Given the description of an element on the screen output the (x, y) to click on. 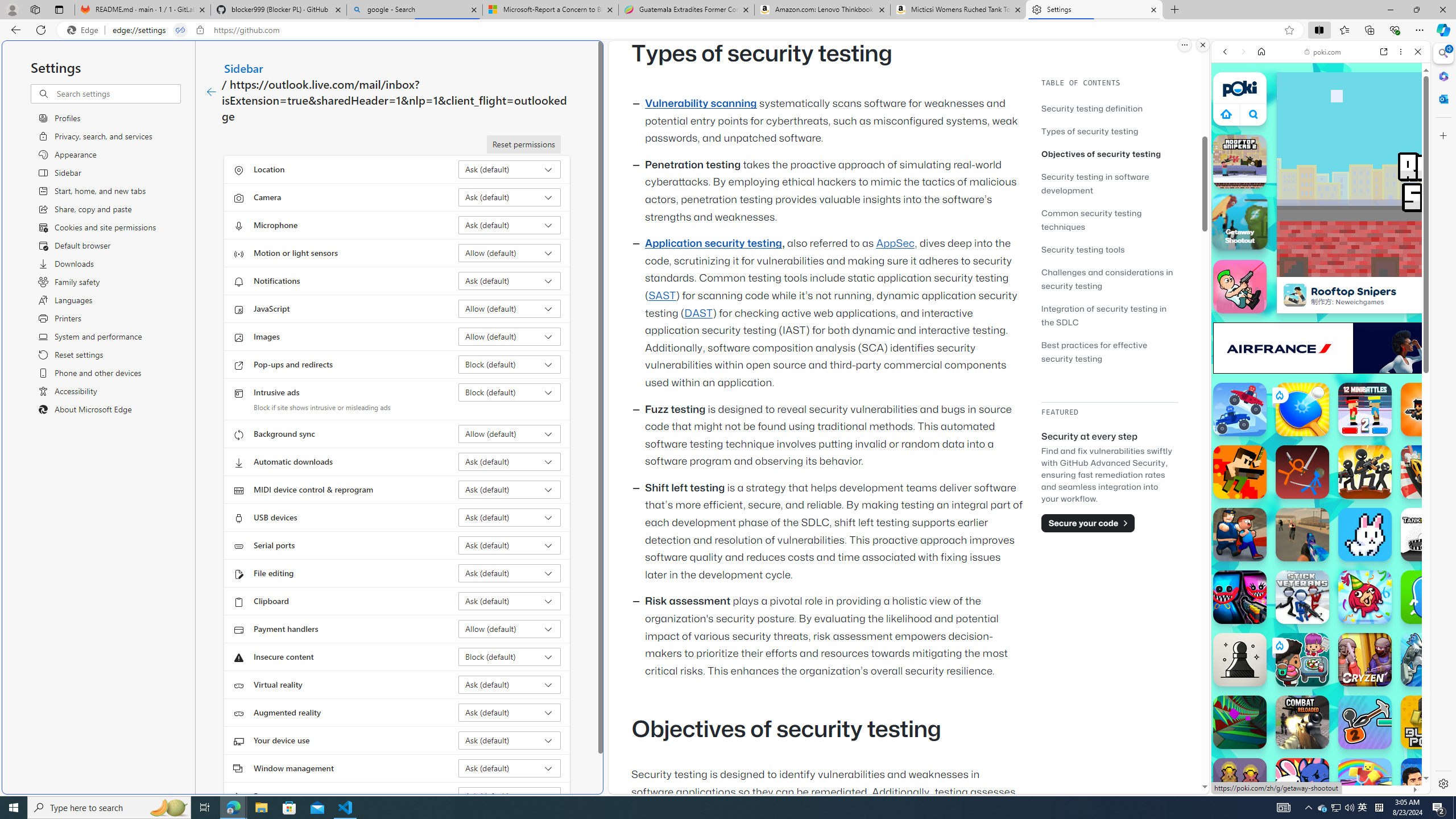
Class: c01182 (210, 91)
Challenges and considerations in security testing (1107, 278)
Background sync Allow (default) (509, 434)
Search settings (117, 93)
Football Legends Football Legends (1427, 784)
SAST (661, 295)
Types of security testing (1089, 130)
Football Legends (1427, 784)
Tunnel Rush Tunnel Rush (1239, 722)
Camera Ask (default) (509, 197)
PartyToons (1364, 597)
